Given the description of an element on the screen output the (x, y) to click on. 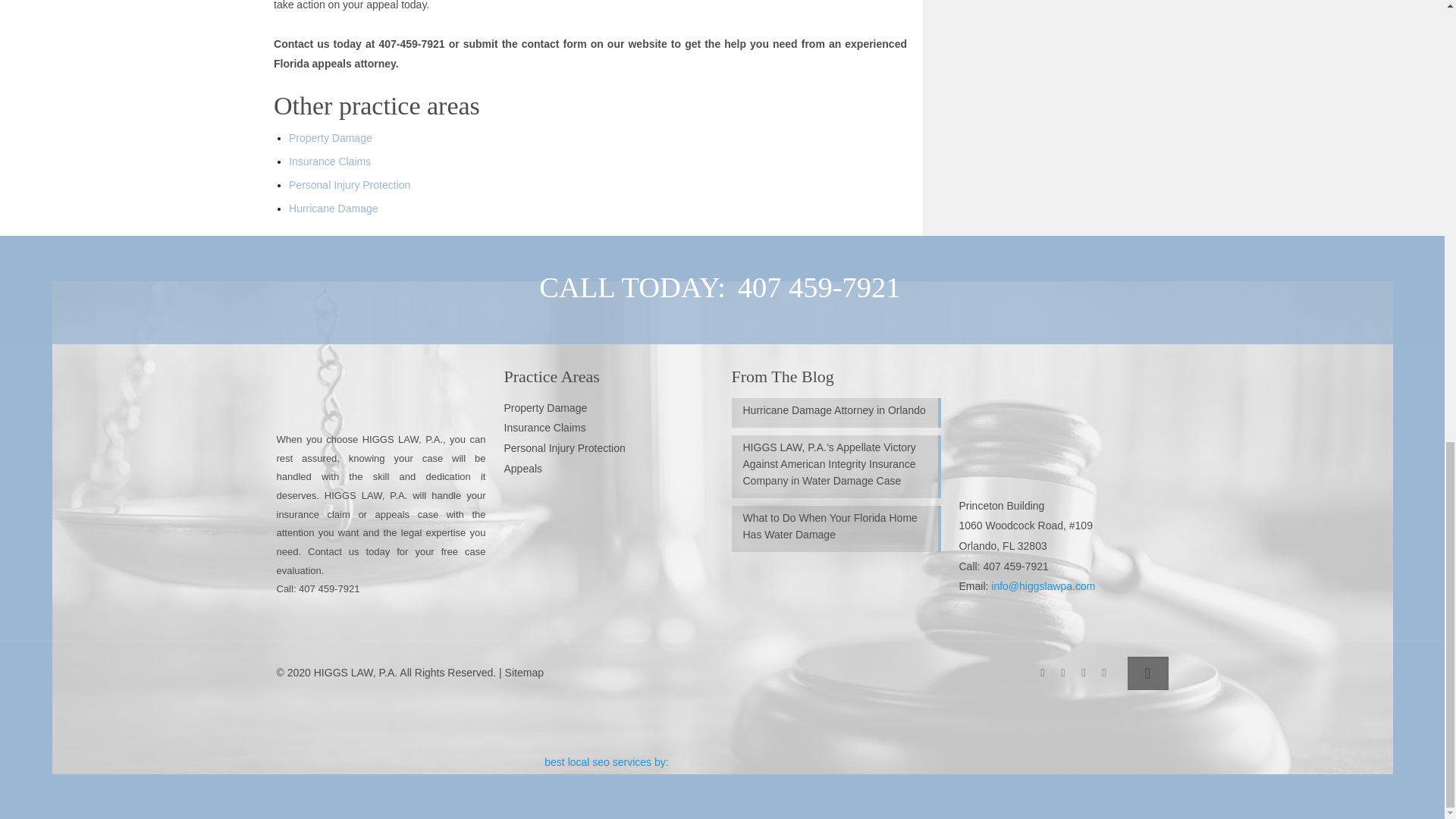
Sitemap (524, 672)
What to Do When Your Florida Home Has Water Damage (836, 527)
Insurance Claims (544, 427)
Facebook (1041, 671)
Insurance Claims (329, 161)
Personal Injury Protection (563, 448)
Personal Injury Protection (349, 184)
Property Damage (544, 408)
Hurricane Damage (333, 208)
Hurricane Damage Attorney in Orlando (836, 411)
